Given the description of an element on the screen output the (x, y) to click on. 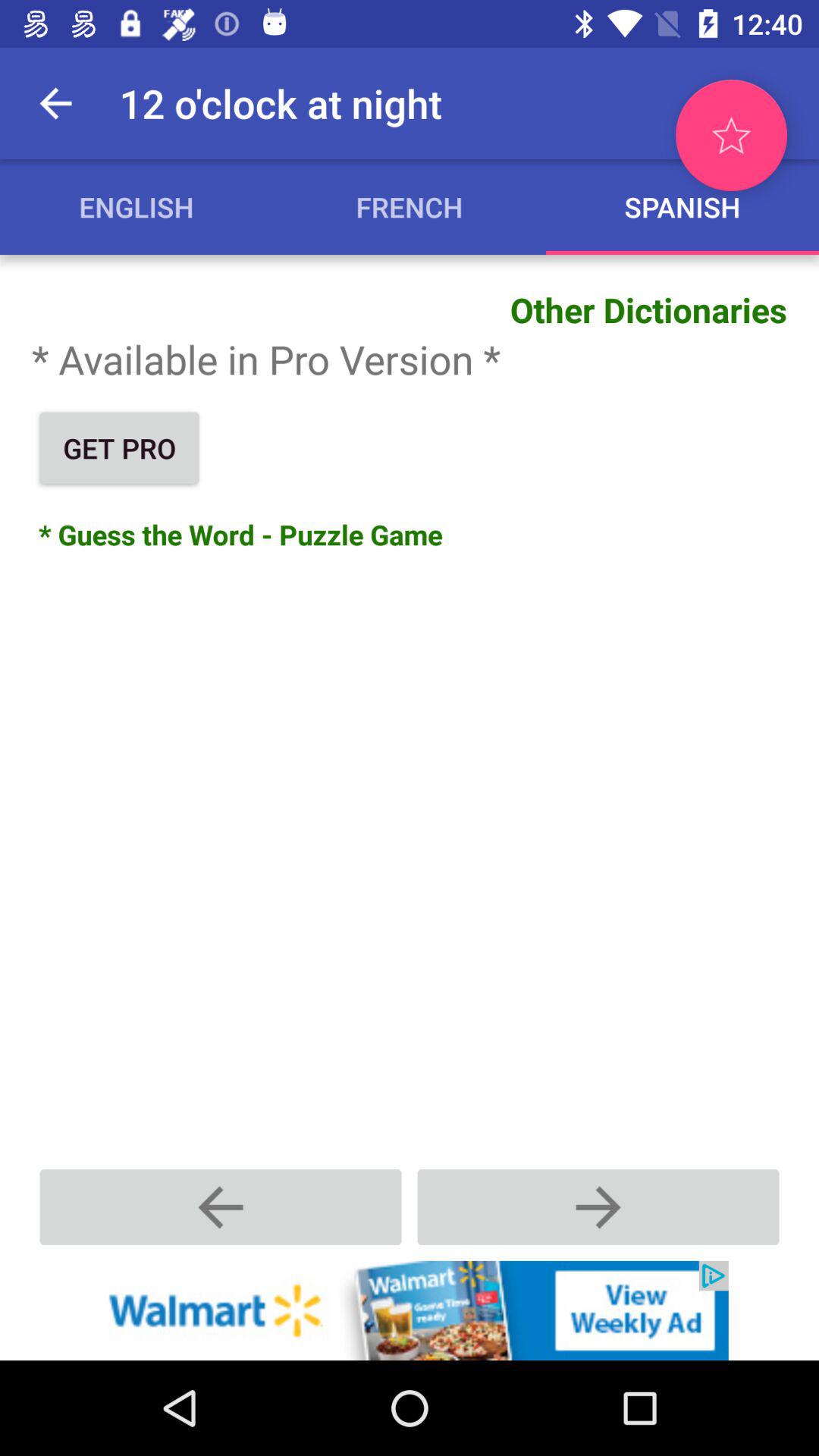
view advertisement (409, 1310)
